Given the description of an element on the screen output the (x, y) to click on. 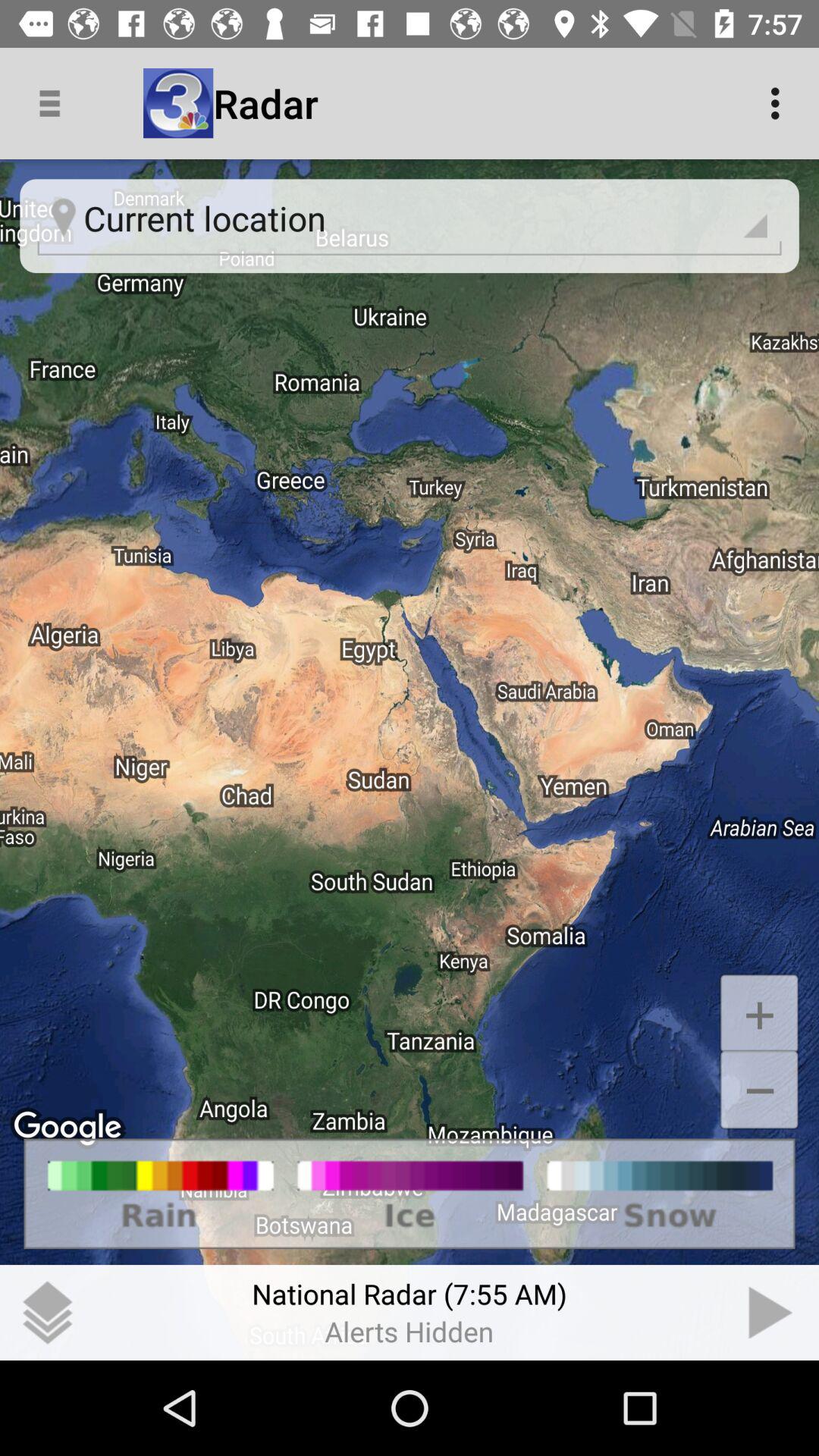
choose the icon at the top right corner (779, 103)
